Given the description of an element on the screen output the (x, y) to click on. 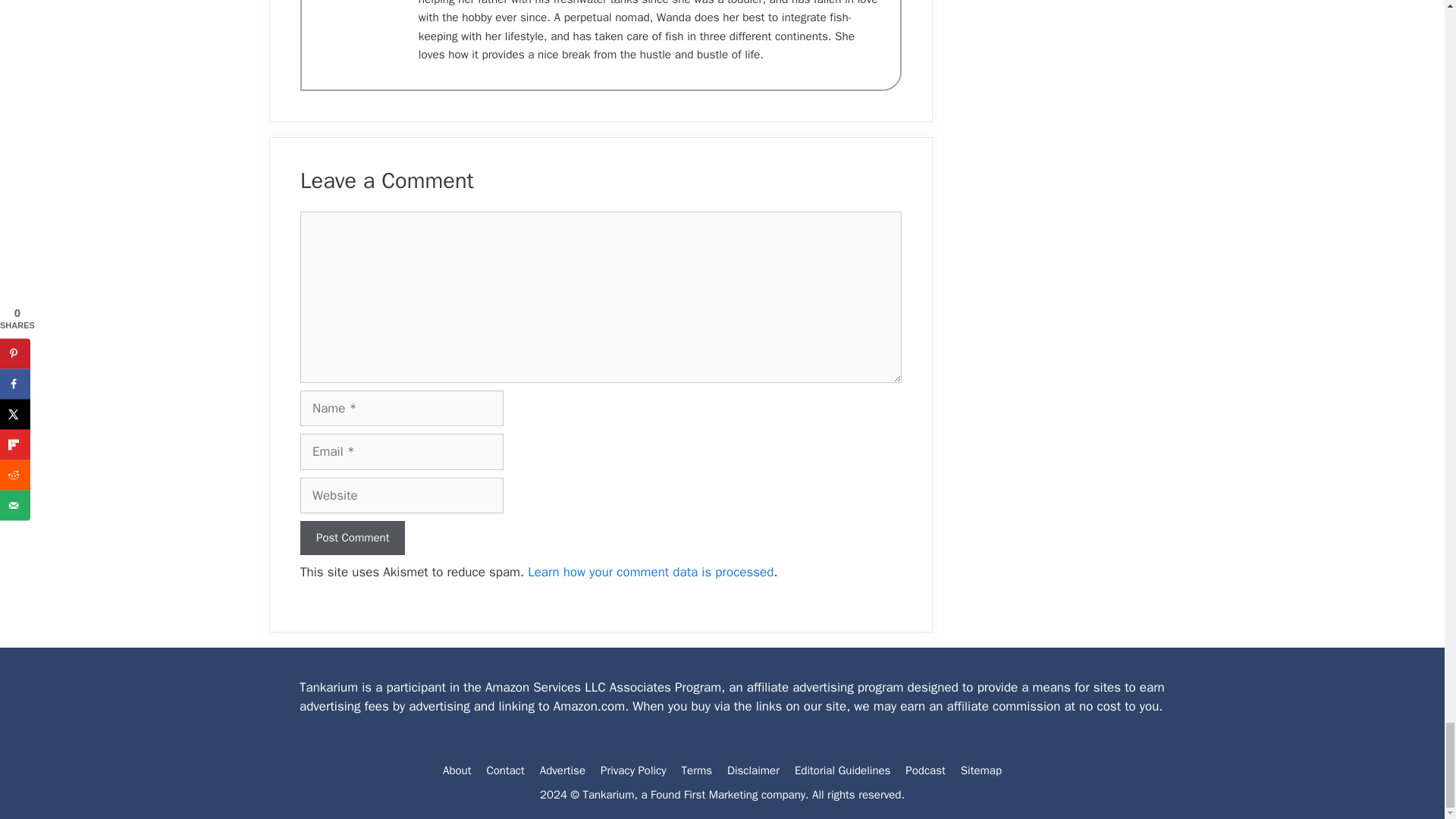
Post Comment (351, 537)
